Given the description of an element on the screen output the (x, y) to click on. 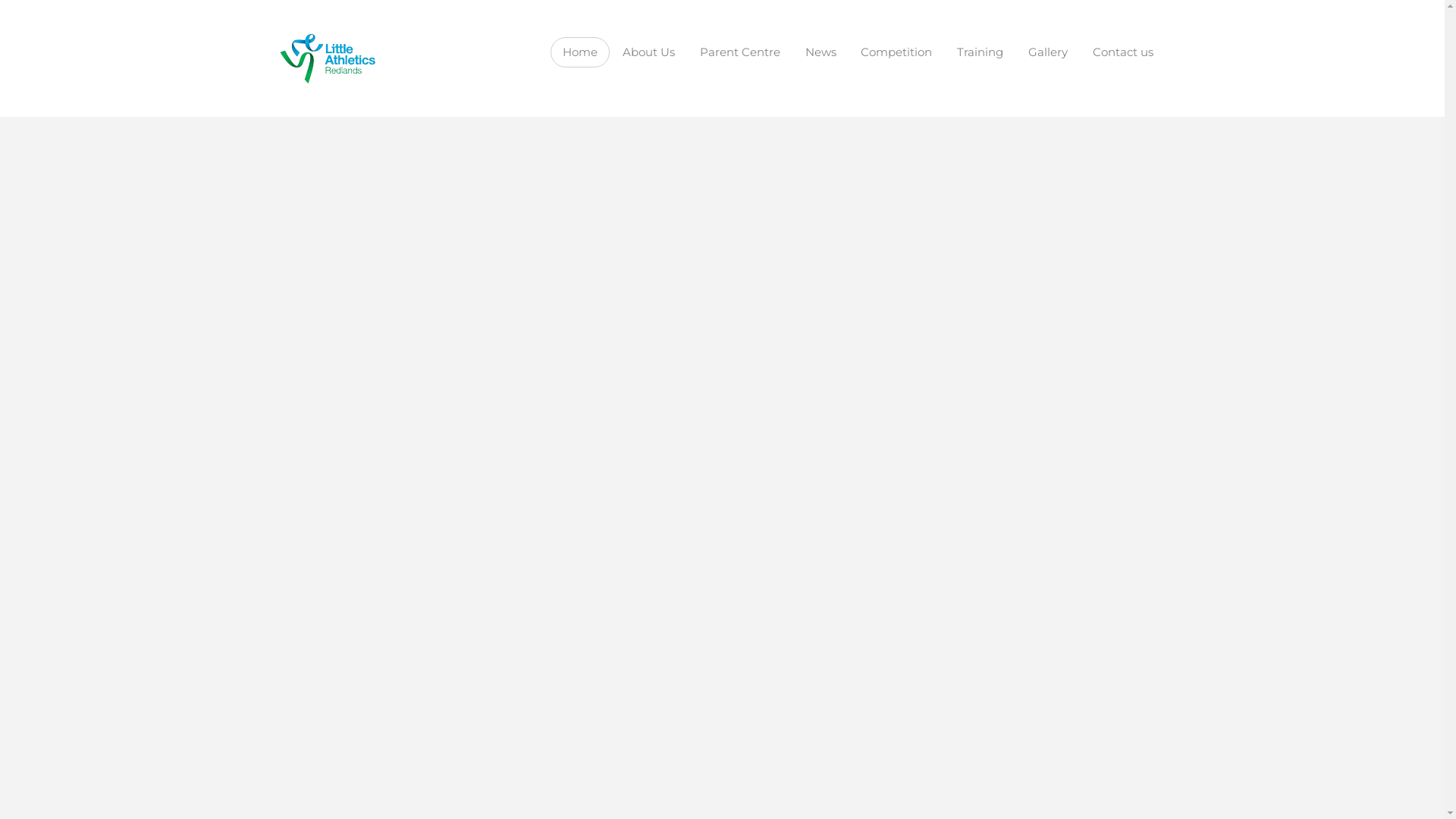
About Us Element type: text (648, 52)
Competition Element type: text (896, 52)
Contact us Element type: text (1123, 52)
News Element type: text (820, 52)
Home Element type: text (580, 52)
Parent Centre Element type: text (739, 52)
Gallery Element type: text (1048, 52)
Training Element type: text (980, 52)
